Given the description of an element on the screen output the (x, y) to click on. 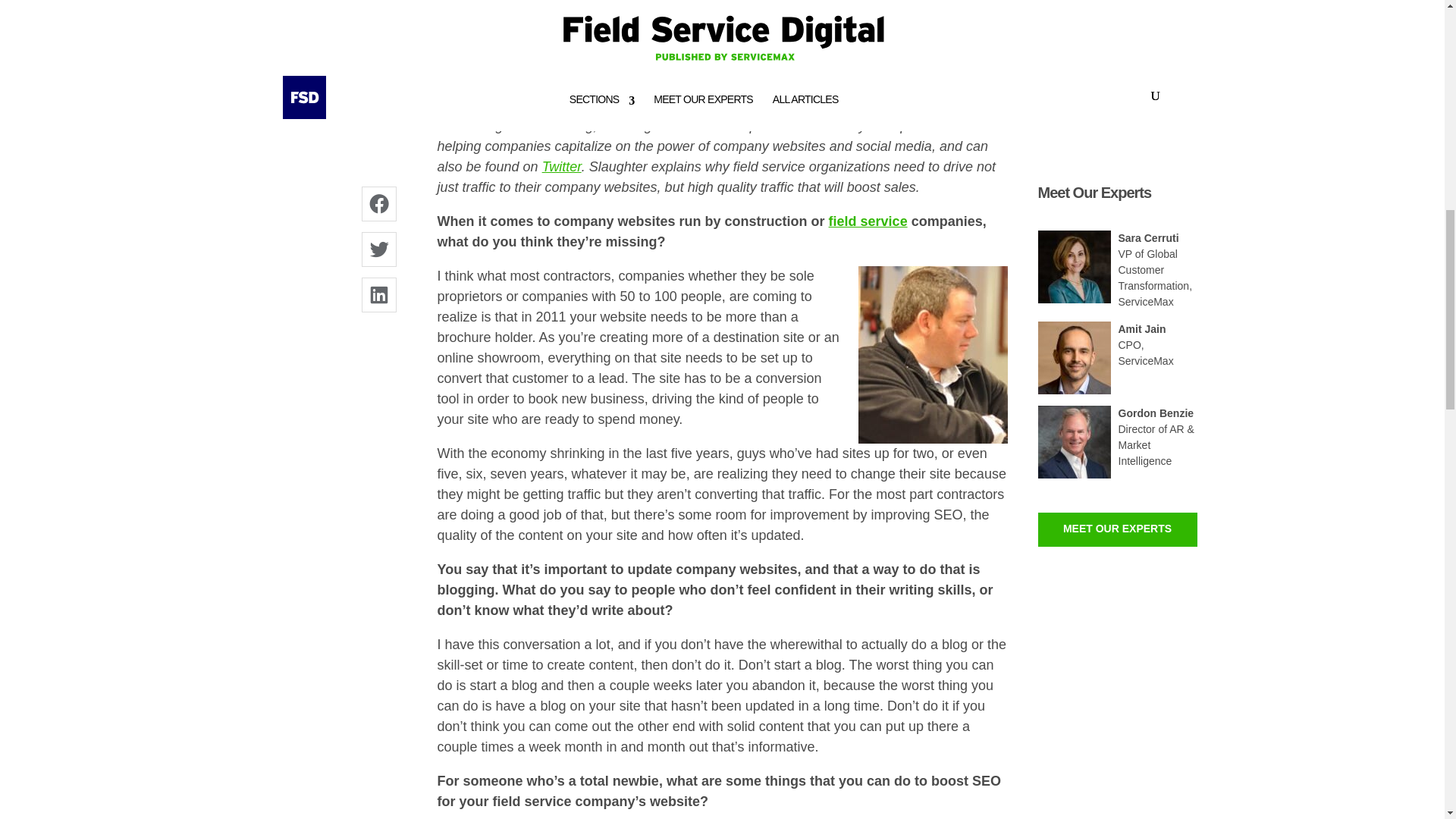
Click to share on Twitter (951, 52)
Click to share on Facebook (922, 52)
Click to share on Facebook (378, 203)
Darren Slaughter (933, 354)
DarrenSlaughter.com (660, 105)
MEET OUR EXPERTS (1116, 529)
Click to share on LinkedIn (982, 52)
Posts by Steve Berman (484, 43)
Click to share on LinkedIn (378, 294)
Twitter (560, 166)
field service (867, 221)
Click to share on Twitter (378, 248)
Steve Berman (484, 43)
